Given the description of an element on the screen output the (x, y) to click on. 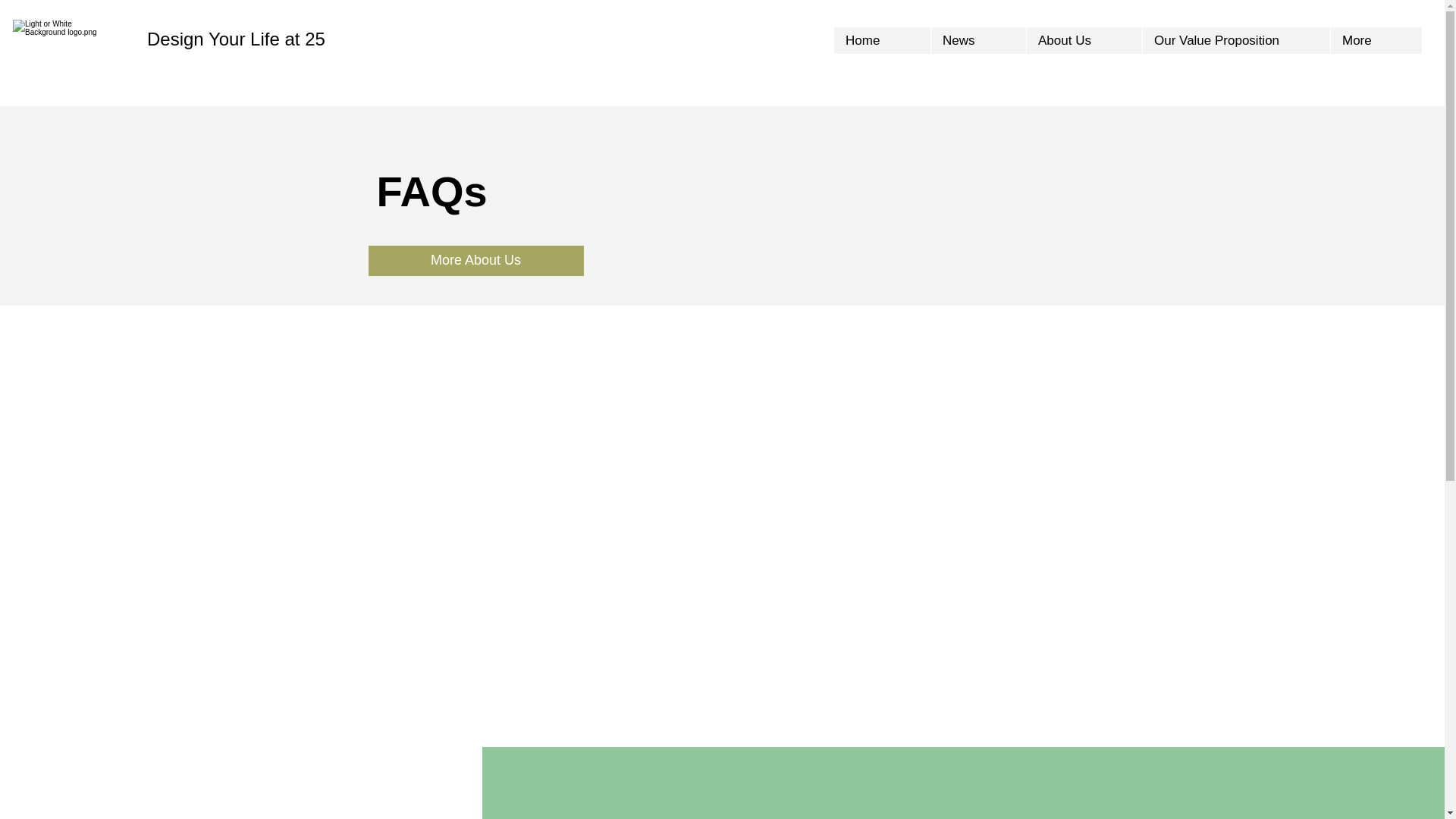
About Us (1083, 40)
Design Your Life at 25 (235, 38)
Home (882, 40)
More About Us (475, 260)
Our Value Proposition (1235, 40)
News (978, 40)
